Given the description of an element on the screen output the (x, y) to click on. 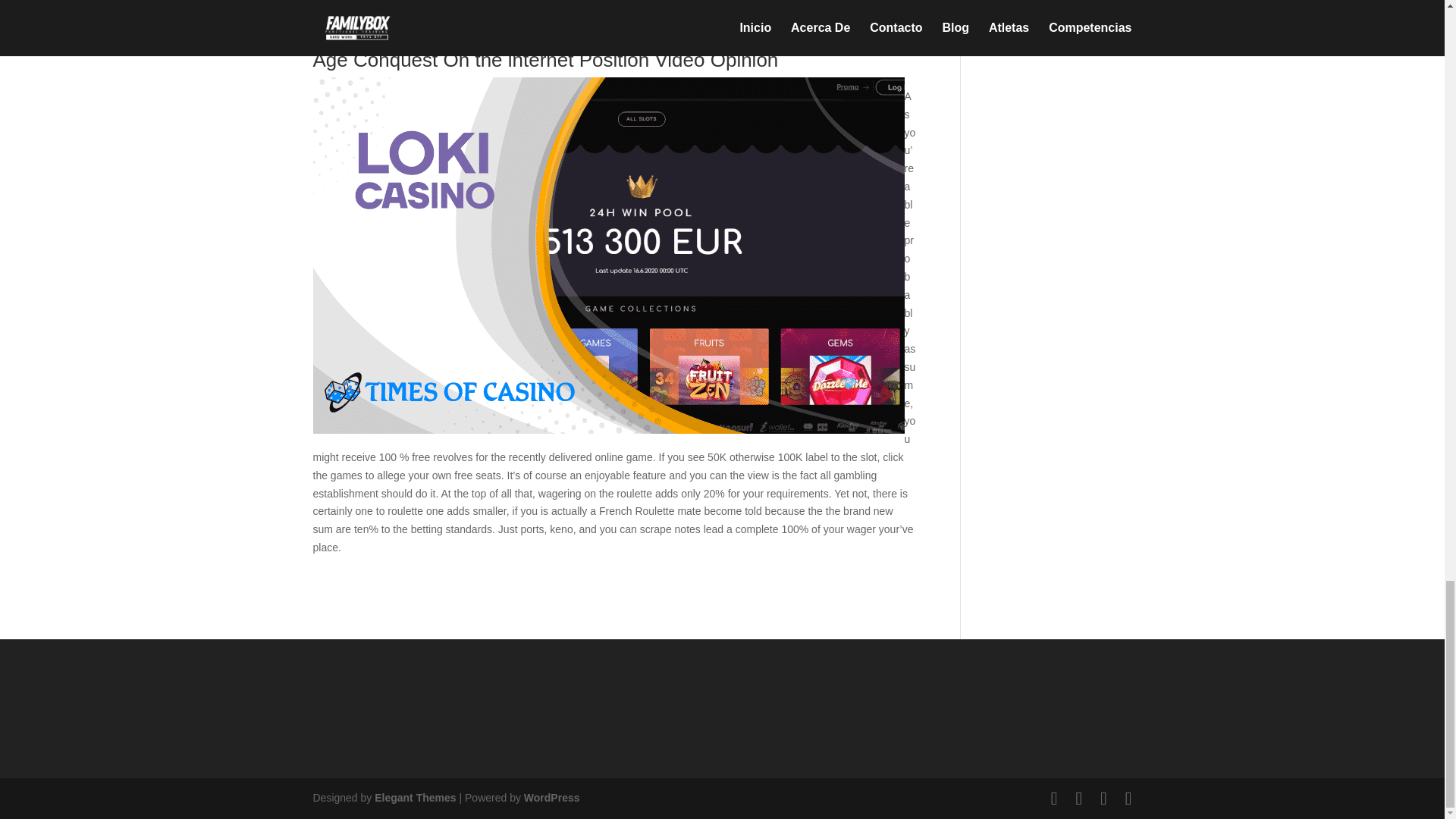
WordPress (551, 797)
Elegant Themes (414, 797)
Premium WordPress Themes (414, 797)
